Given the description of an element on the screen output the (x, y) to click on. 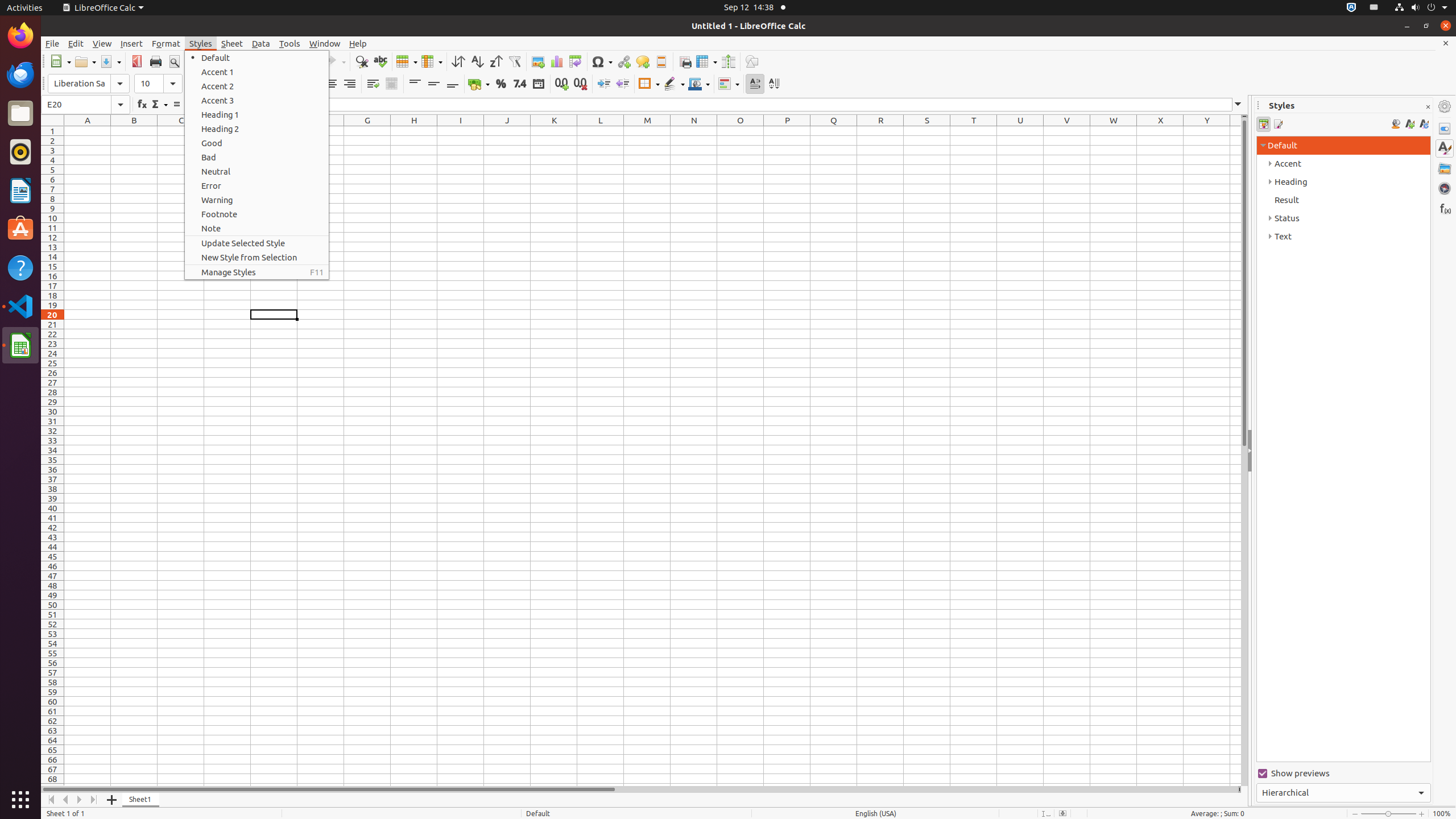
Ubuntu Software Element type: push-button (20, 229)
Sort Ascending Element type: push-button (476, 61)
Fill Format Mode Element type: push-button (1395, 123)
Align Top Element type: push-button (414, 83)
Y1 Element type: table-cell (1206, 130)
